Given the description of an element on the screen output the (x, y) to click on. 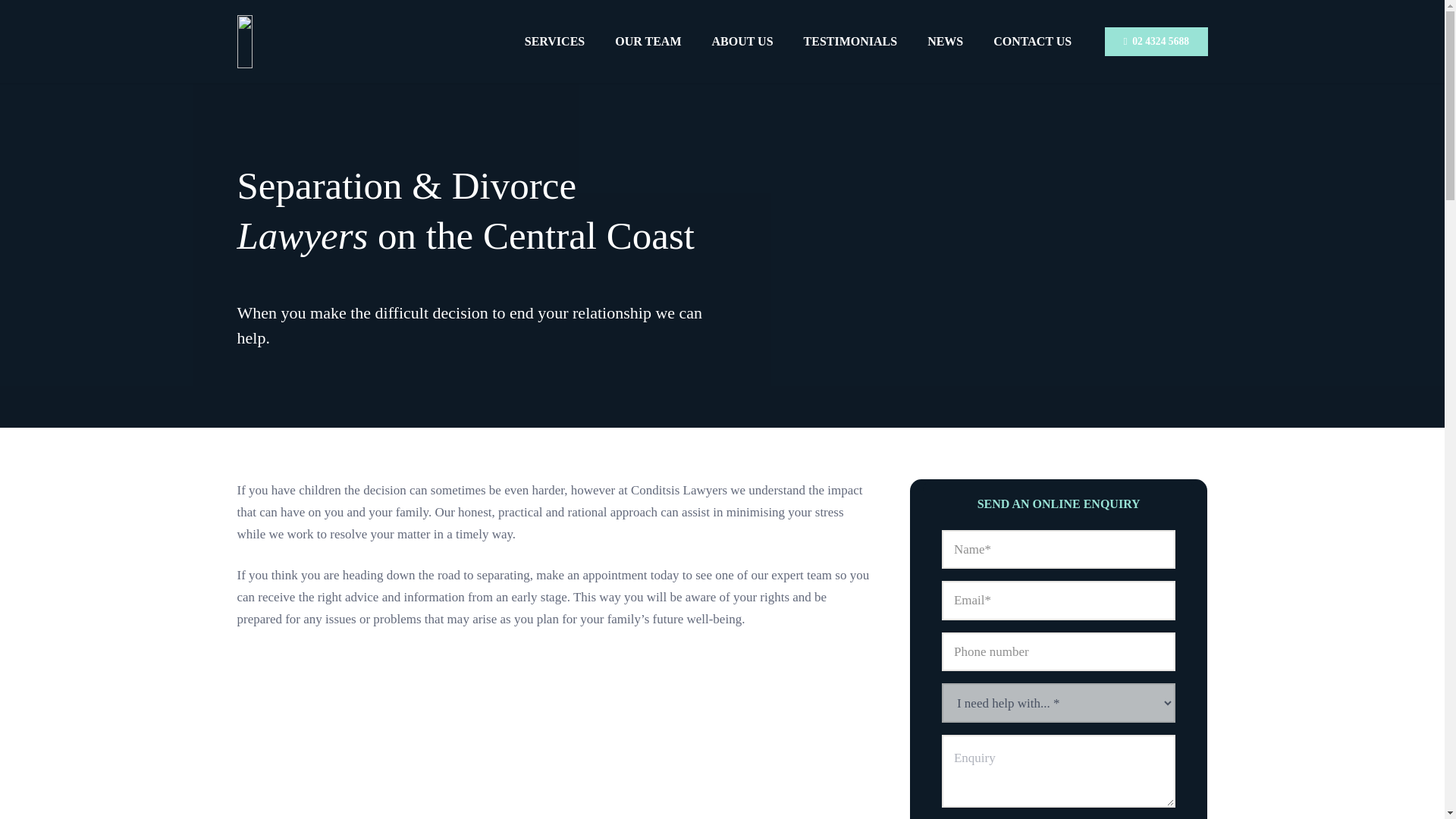
NEWS (945, 41)
SERVICES (554, 41)
ABOUT US (741, 41)
OUR TEAM (647, 41)
TESTIMONIALS (850, 41)
02 4324 5688 (1156, 41)
CONTACT US (1032, 41)
